Given the description of an element on the screen output the (x, y) to click on. 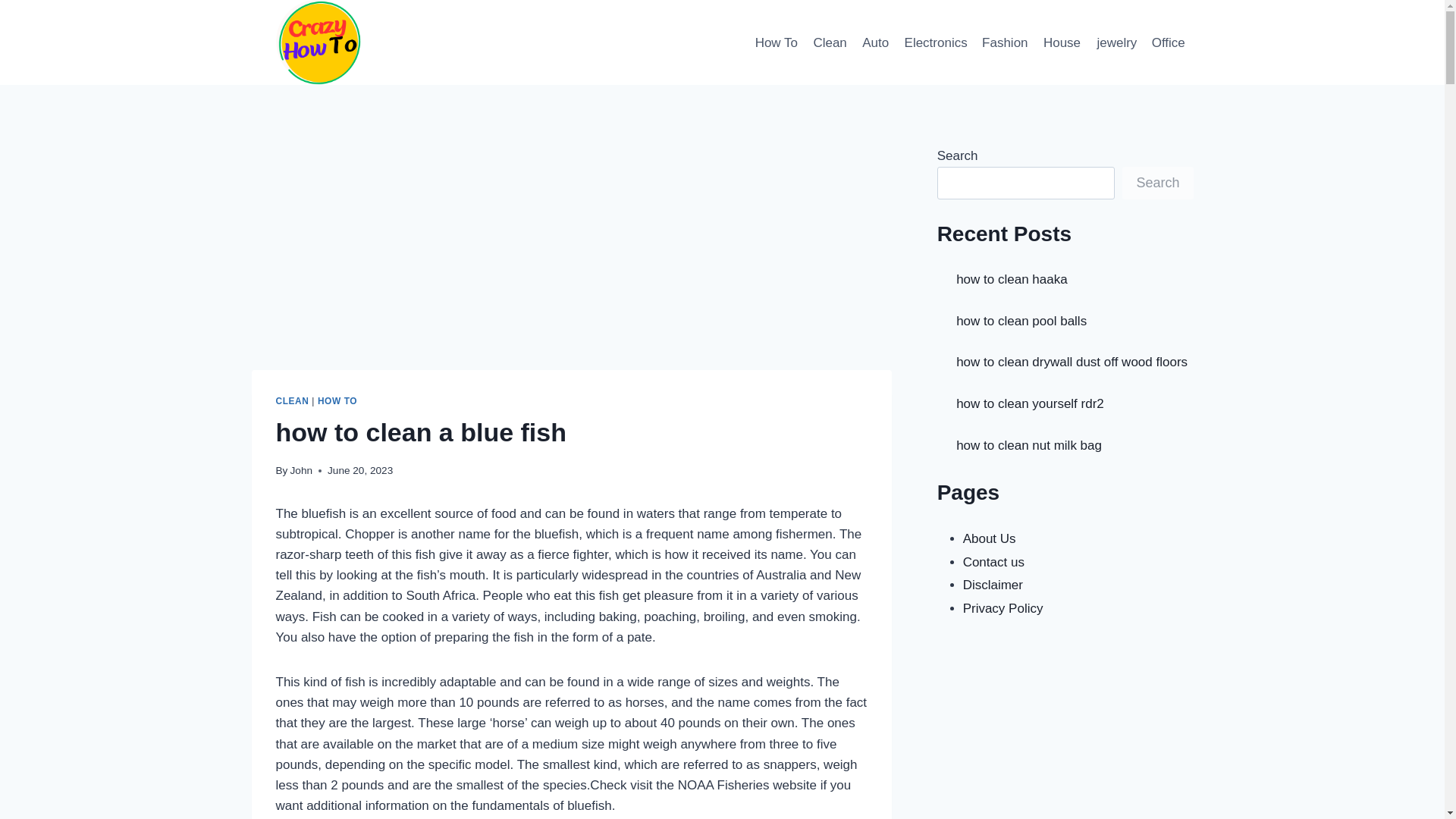
jewelry (1116, 42)
Clean (829, 42)
Auto (874, 42)
John (301, 470)
How To (775, 42)
HOW TO (336, 400)
Fashion (1004, 42)
CLEAN (292, 400)
Electronics (935, 42)
